Given the description of an element on the screen output the (x, y) to click on. 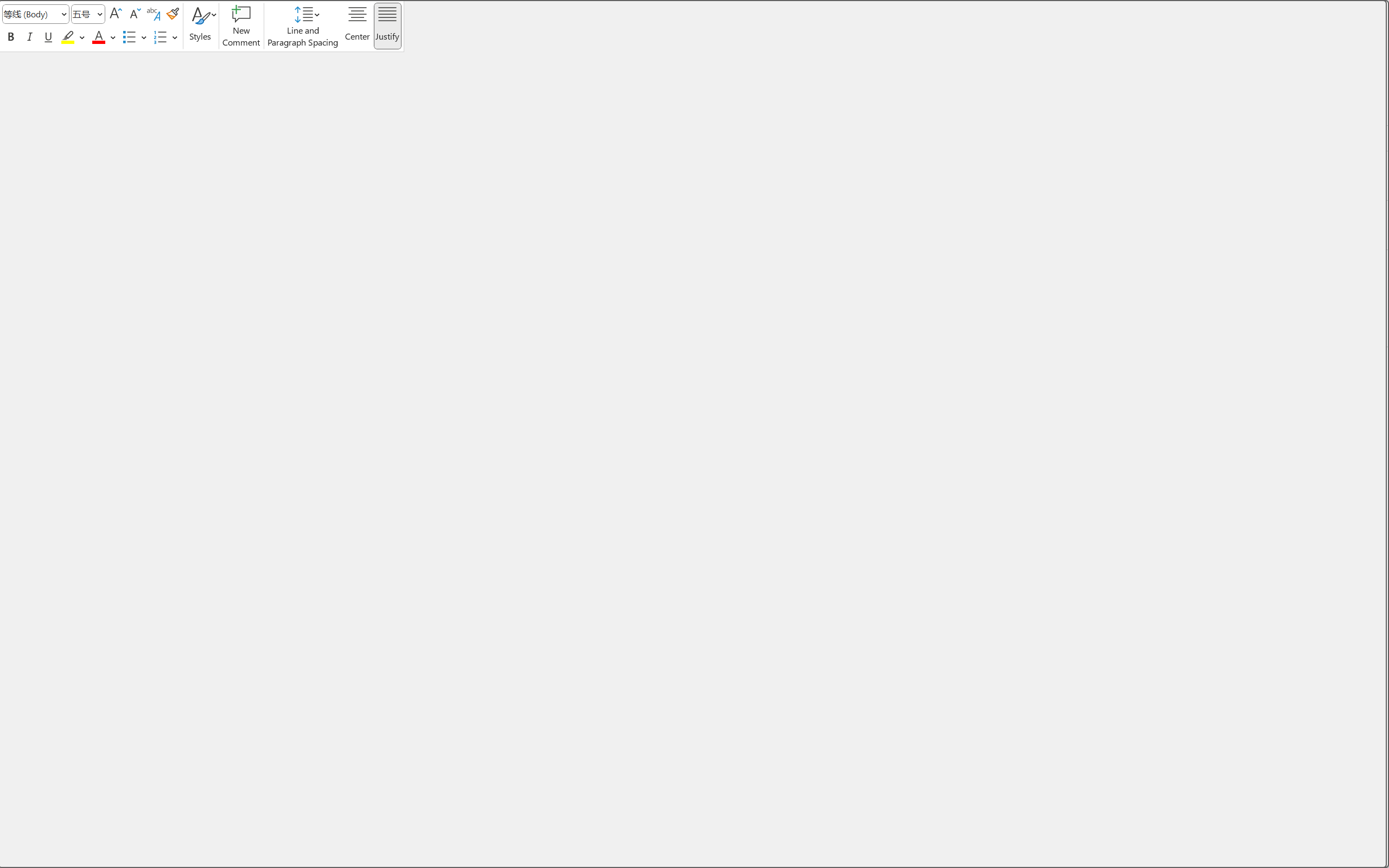
Merge Formatting (63, 110)
Insert Symbol (694, 236)
Reconvert (694, 138)
Link (694, 359)
New Comment (694, 383)
